Given the description of an element on the screen output the (x, y) to click on. 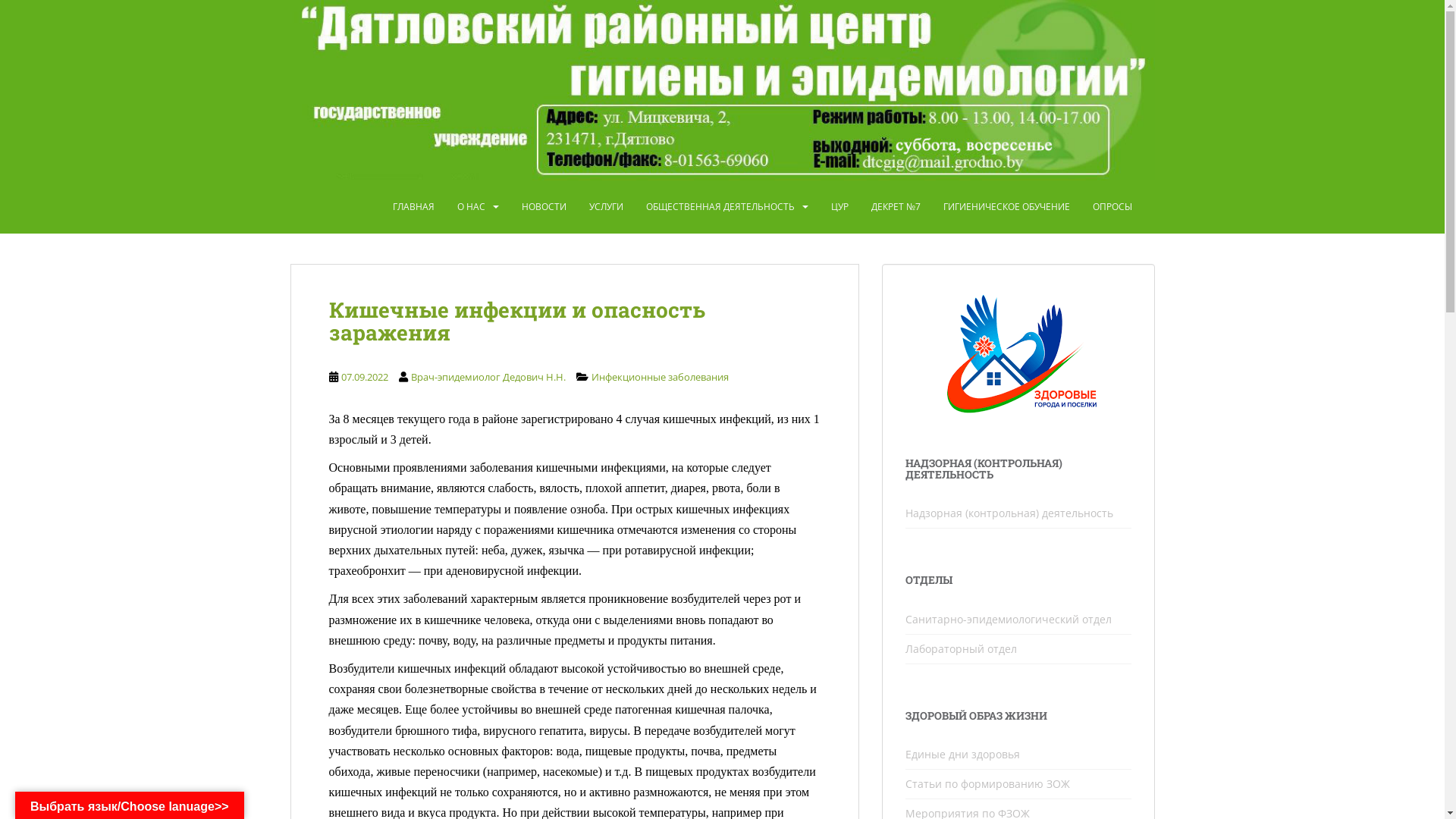
07.09.2022 Element type: text (364, 376)
